Given the description of an element on the screen output the (x, y) to click on. 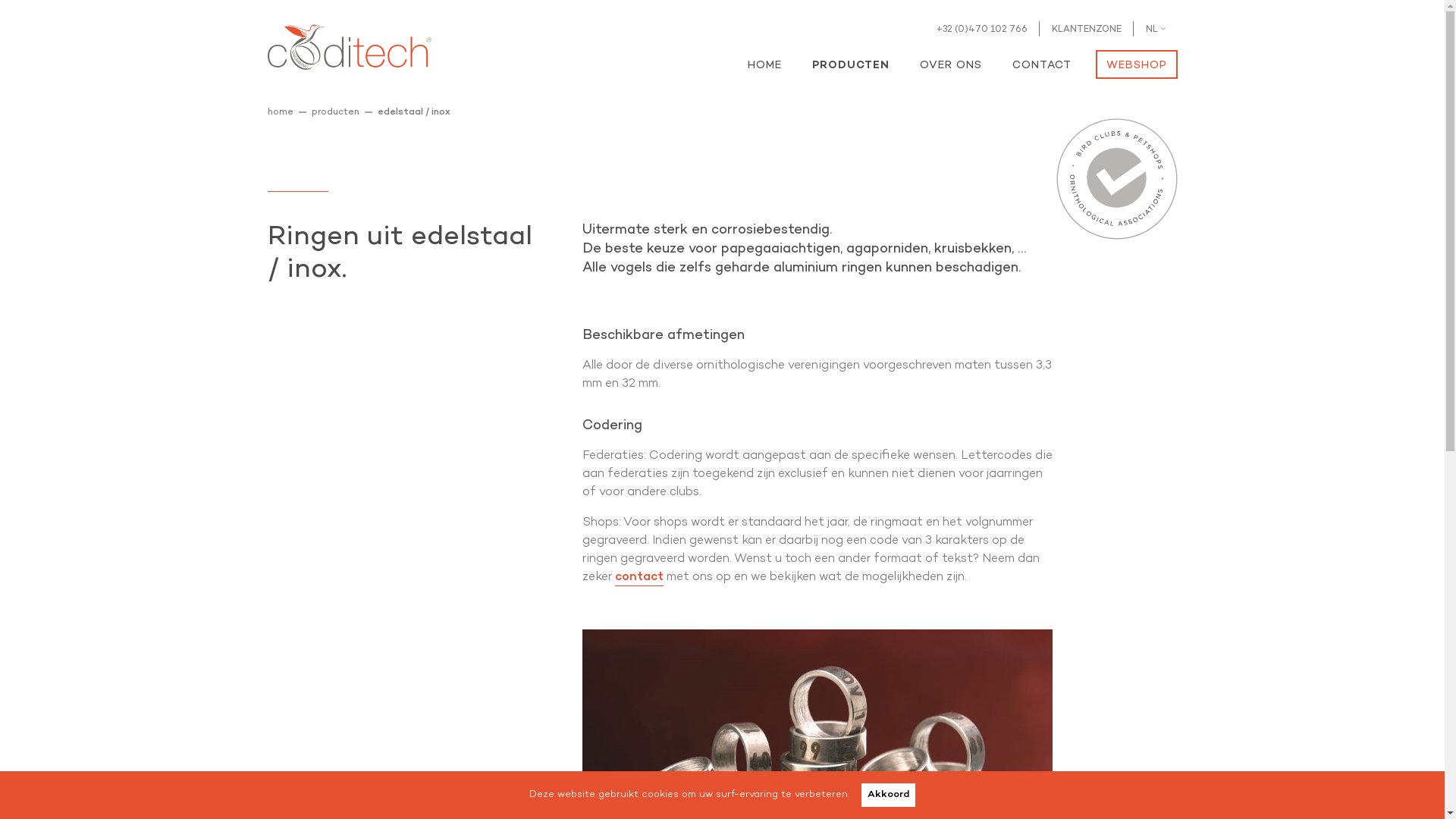
KLANTENZONE Element type: text (1085, 29)
Akkoord Element type: text (888, 794)
producten Element type: text (338, 112)
HOME Element type: text (767, 64)
contact Element type: text (639, 578)
WEBSHOP Element type: text (1135, 64)
PRODUCTEN Element type: text (849, 64)
NL arrow-down Element type: text (1154, 29)
CONTACT Element type: text (1040, 64)
OVER ONS Element type: text (950, 64)
home Element type: text (283, 112)
+32 (0)470 102 766 Element type: text (980, 29)
